Given the description of an element on the screen output the (x, y) to click on. 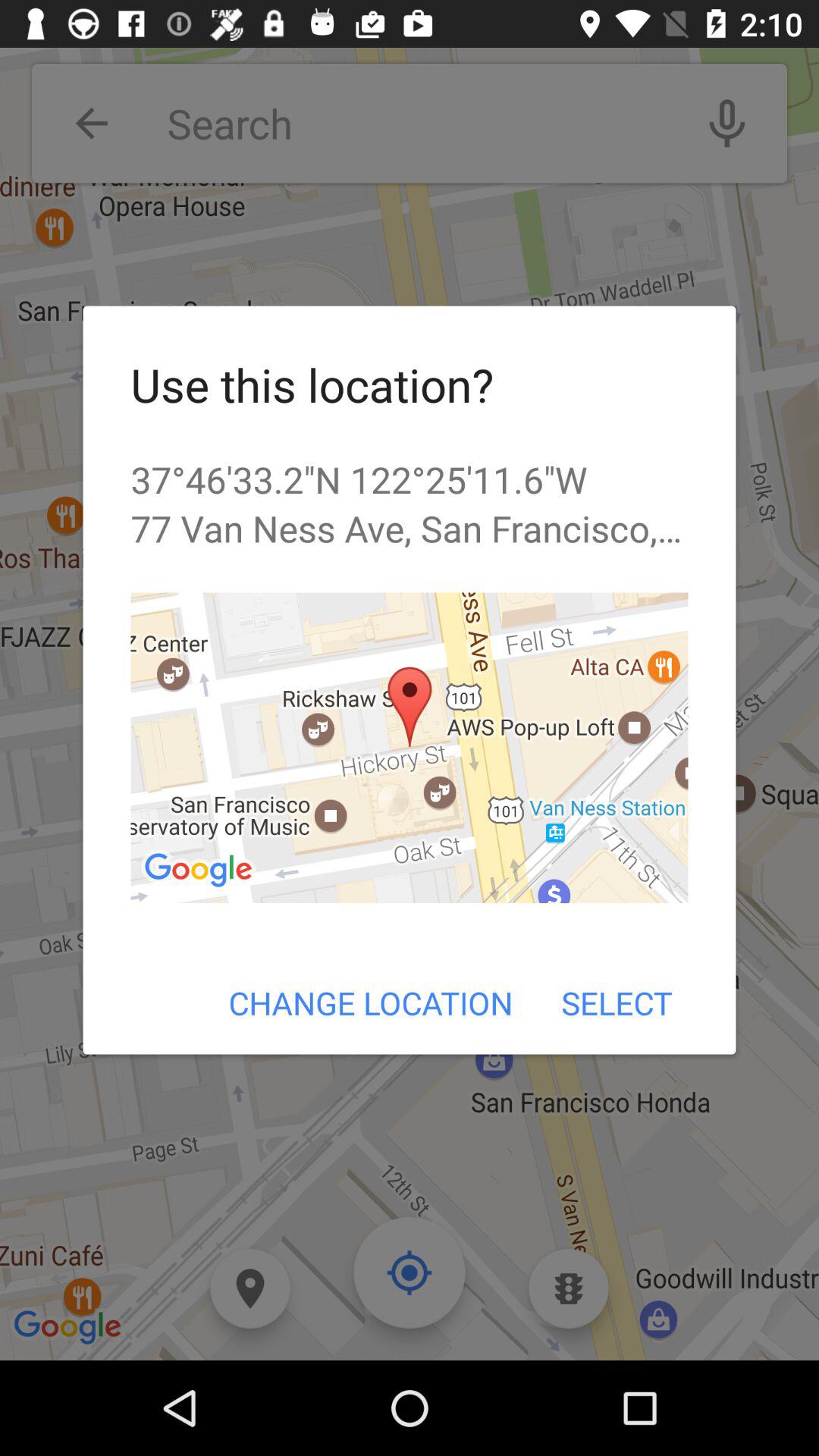
flip until change location item (370, 1002)
